Given the description of an element on the screen output the (x, y) to click on. 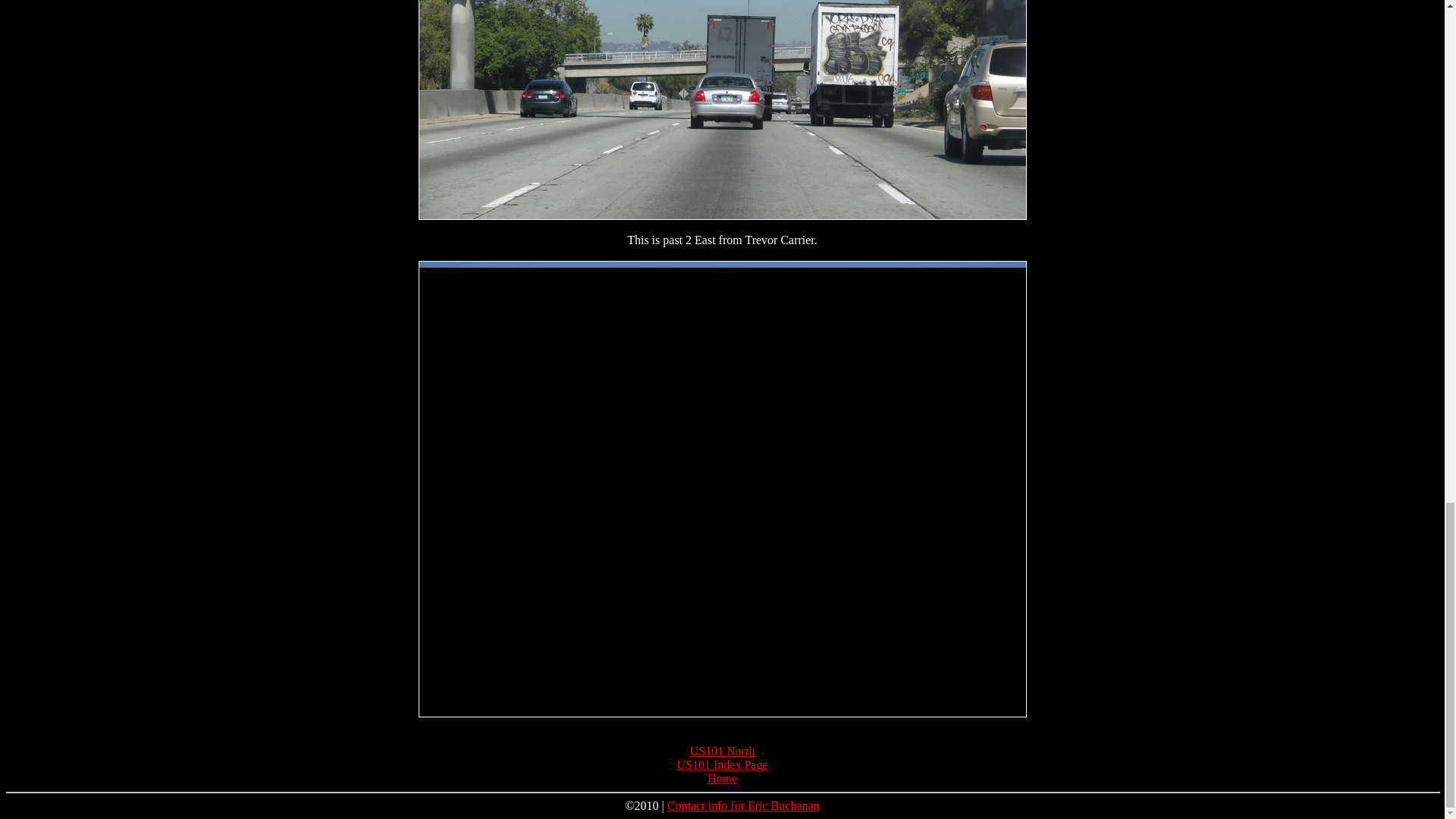
US101 North (722, 750)
Home (721, 778)
US101 Index Page (722, 764)
Contact info for Eric Buchanan (742, 805)
